Given the description of an element on the screen output the (x, y) to click on. 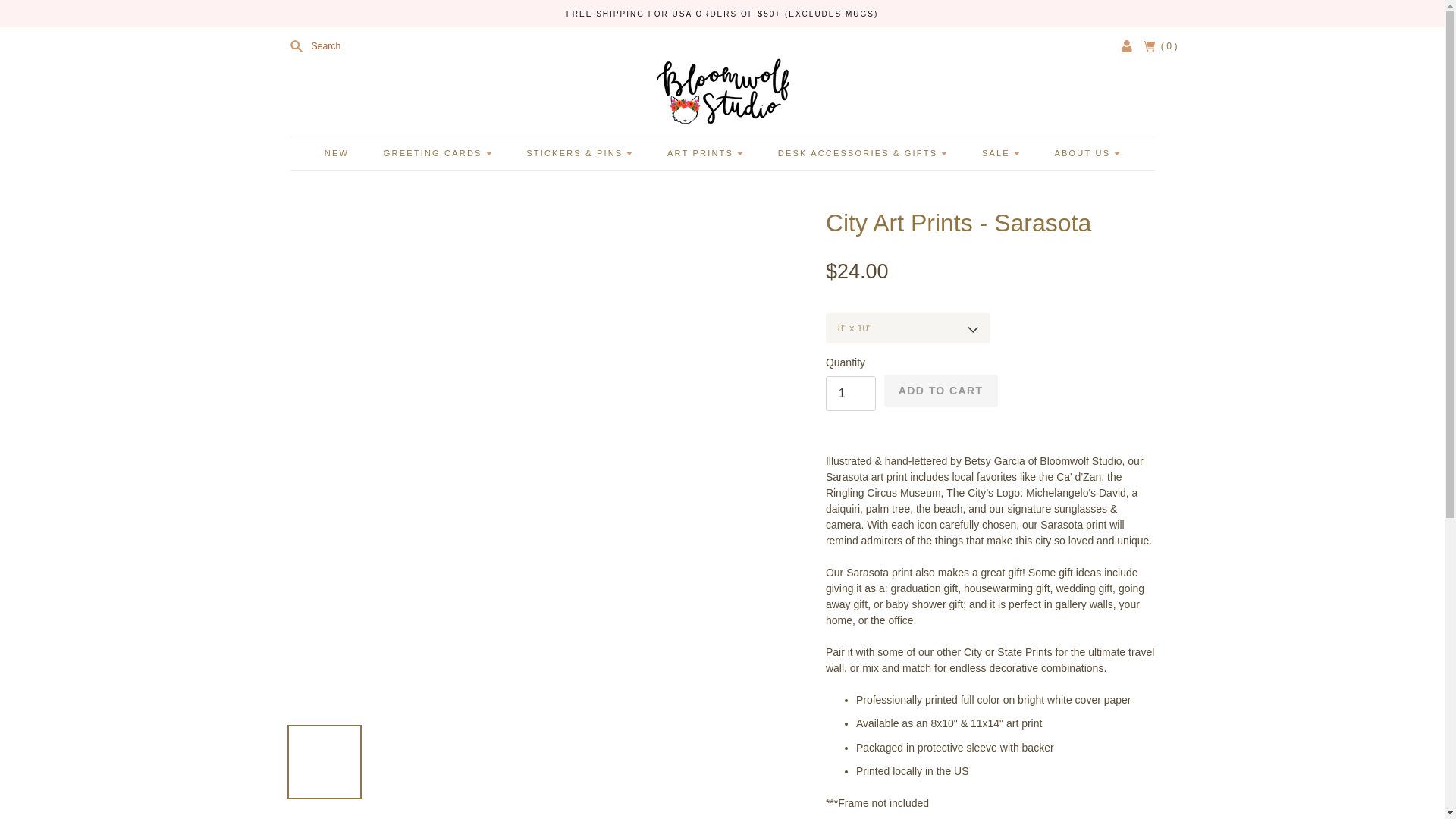
1 (850, 392)
Login (1126, 46)
NEW (336, 153)
